Given the description of an element on the screen output the (x, y) to click on. 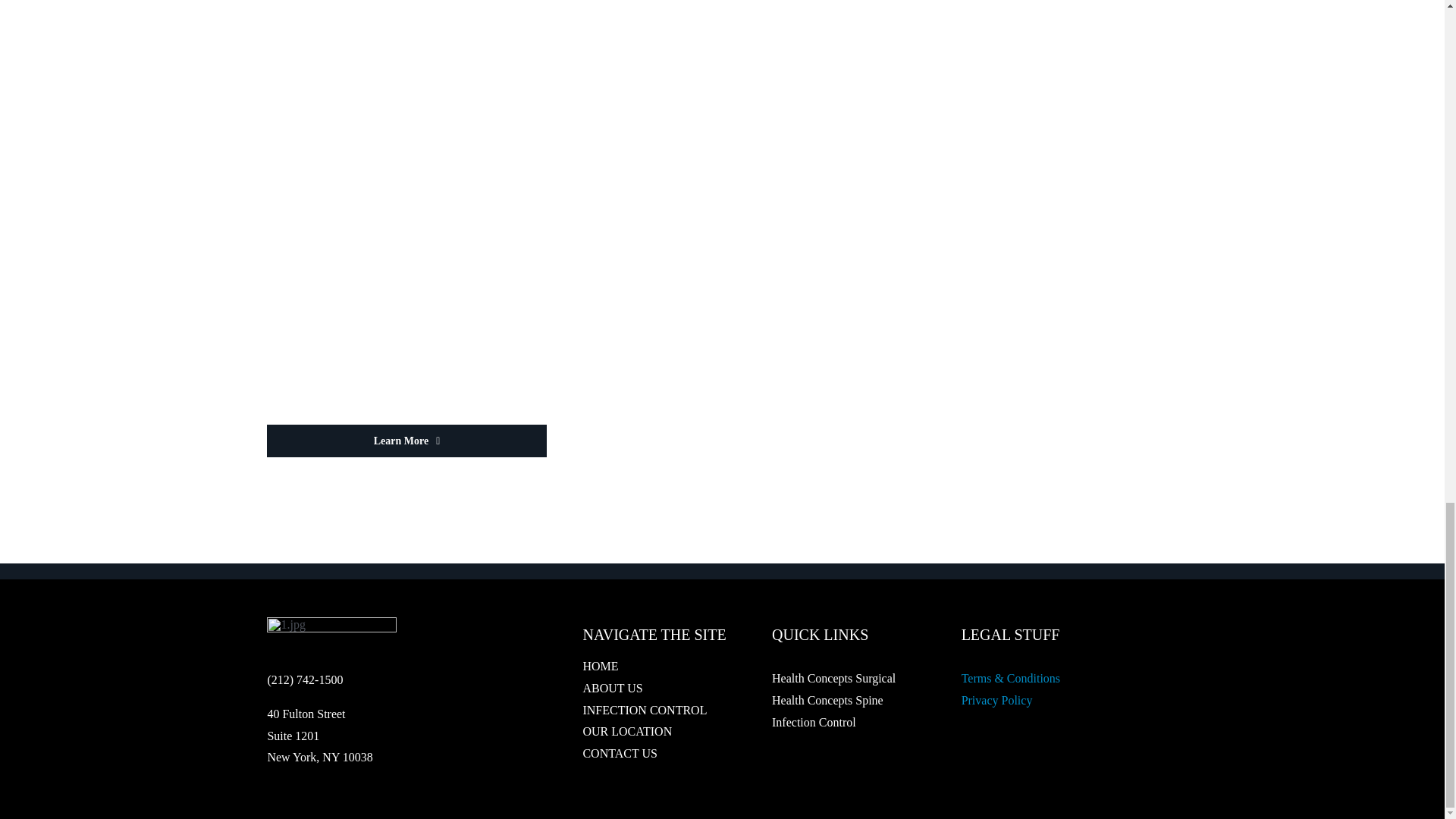
Health Concepts Spine (827, 699)
HOME (658, 667)
ABOUT US (658, 689)
1.jpg (331, 637)
CONTACT US (658, 753)
Health Concepts Surgical (833, 677)
INFECTION CONTROL (658, 710)
OUR LOCATION (658, 731)
Learn More (406, 441)
